Given the description of an element on the screen output the (x, y) to click on. 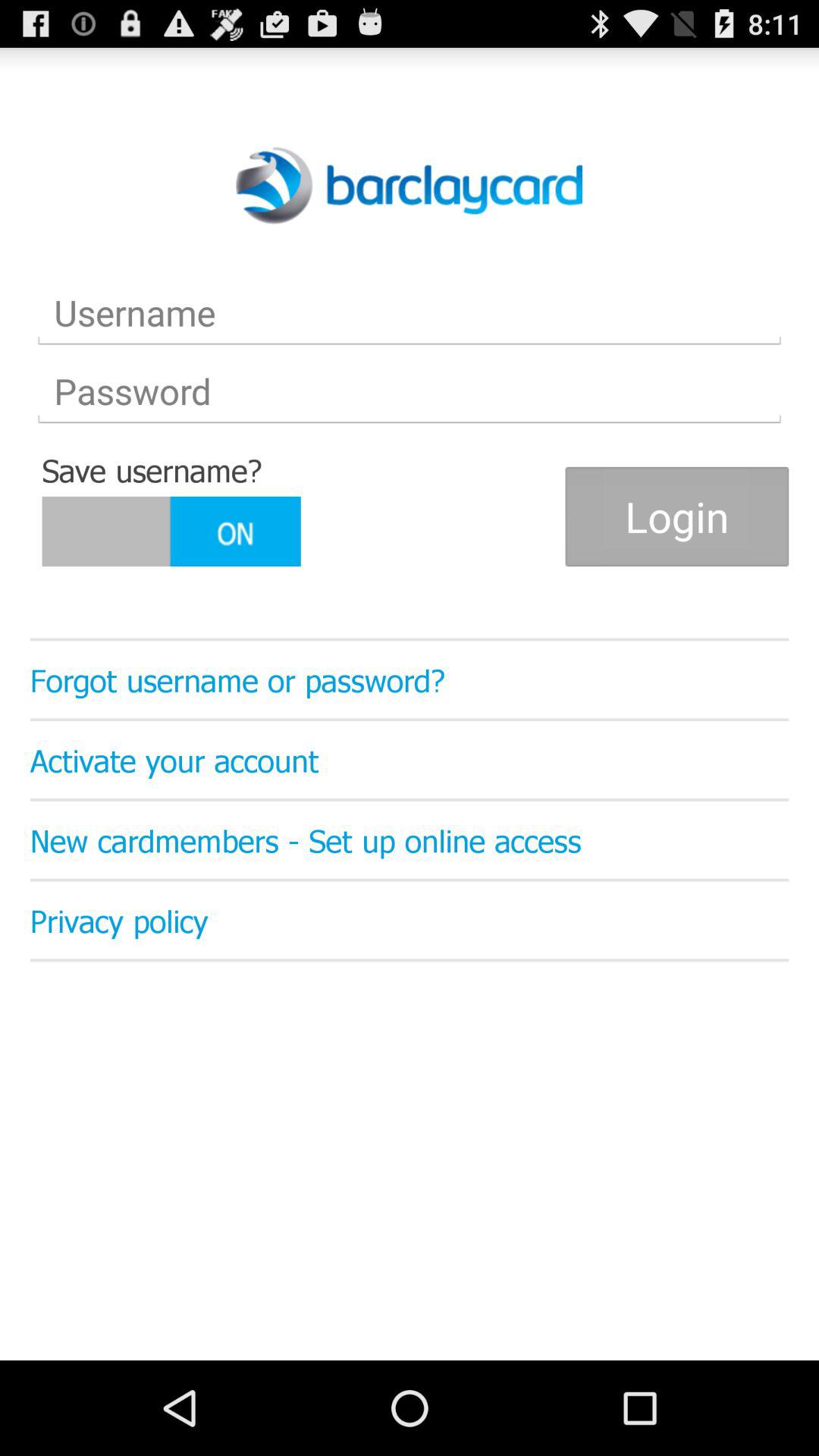
tap login button (676, 516)
